Given the description of an element on the screen output the (x, y) to click on. 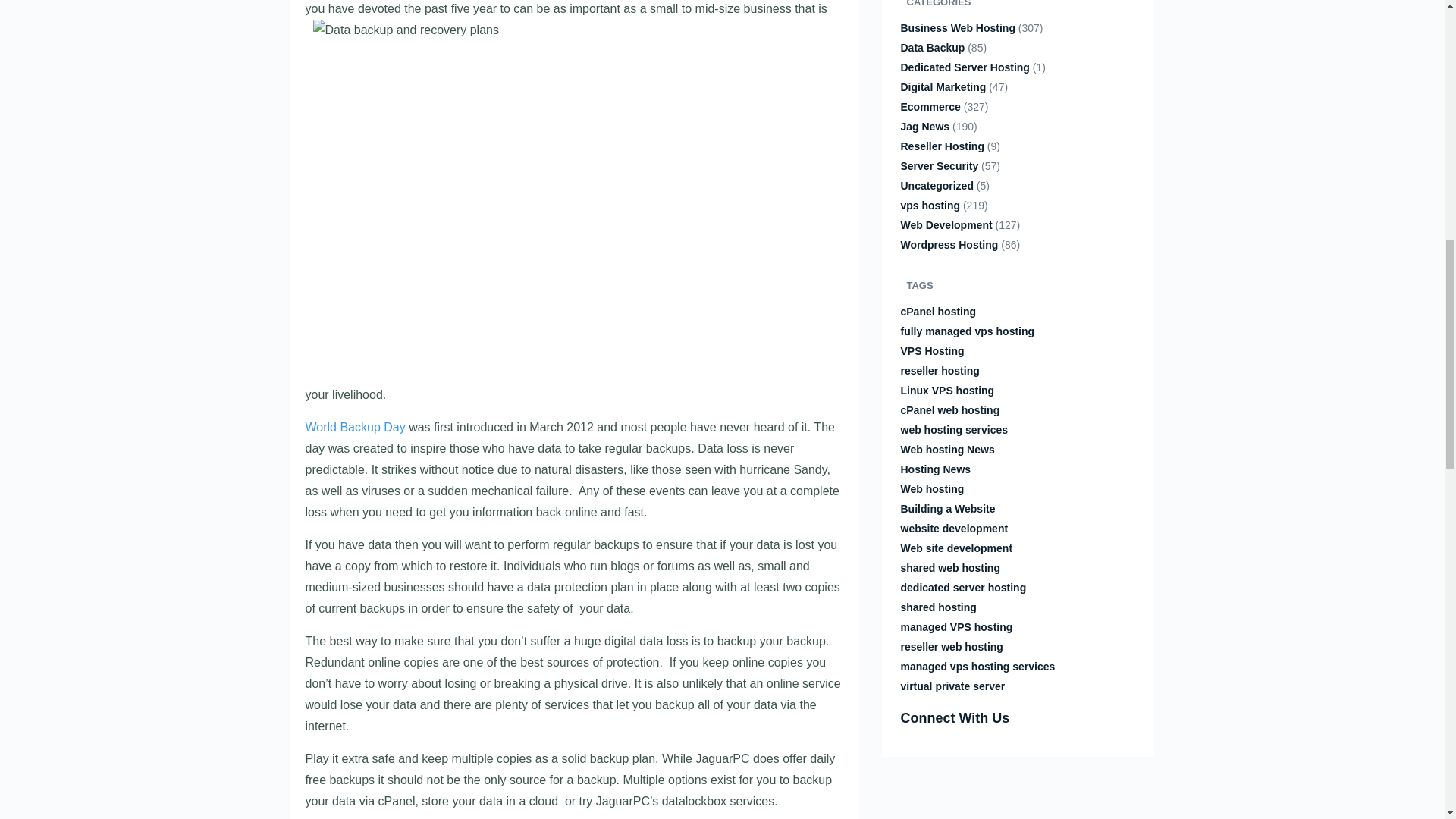
fully managed vps hosting Tag (968, 331)
cPanel hosting Tag (938, 311)
World Backup and Data Recovery Day (354, 427)
